Given the description of an element on the screen output the (x, y) to click on. 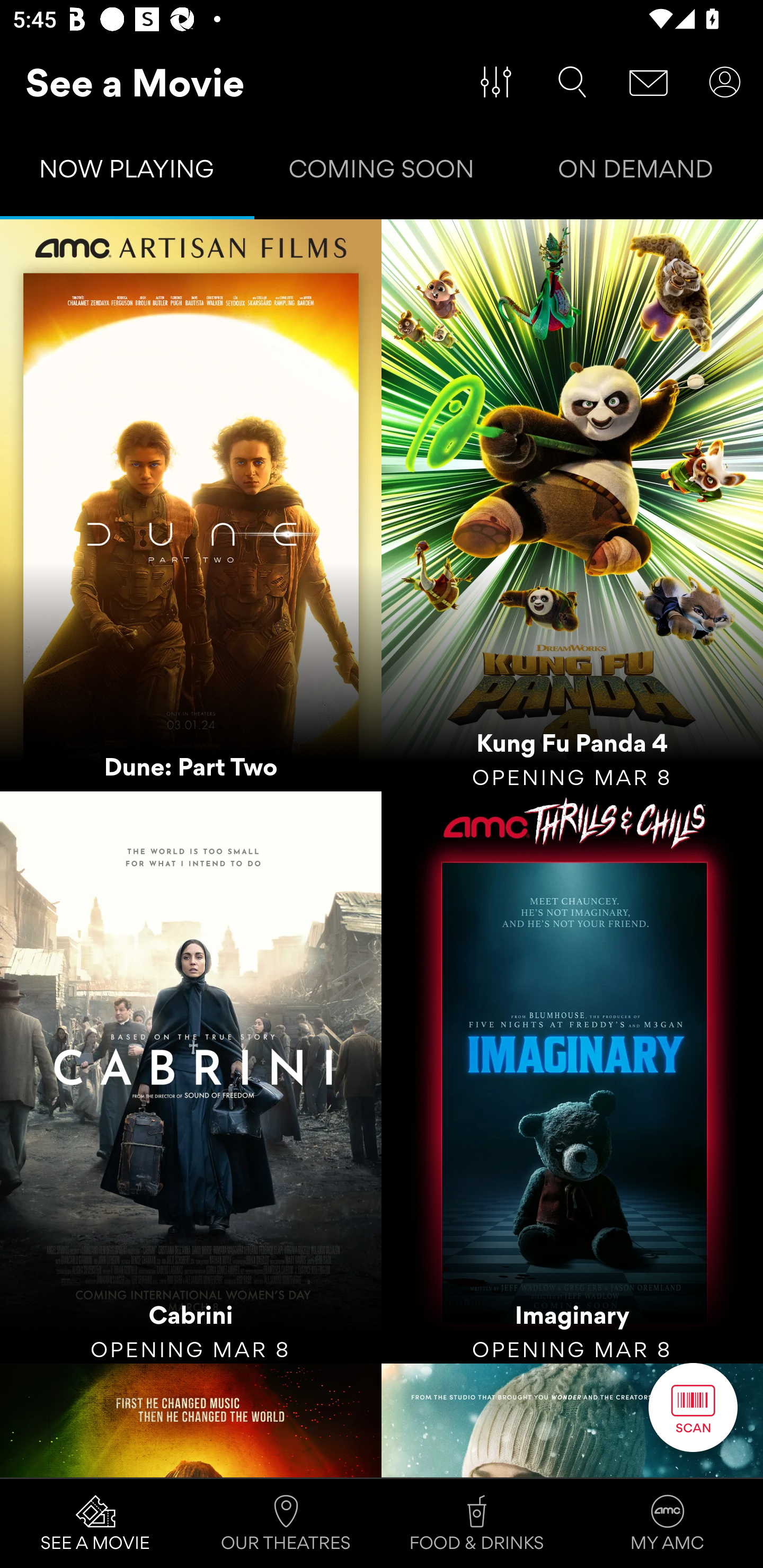
Filter Movies (495, 82)
Search (572, 82)
Message Center (648, 82)
User Account (724, 82)
NOW PLAYING
Tab 1 of 3 (127, 173)
COMING SOON
Tab 2 of 3 (381, 173)
ON DEMAND
Tab 3 of 3 (635, 173)
Dune: Part Two (190, 505)
Kung Fu Panda 4
OPENING MAR 8 (572, 505)
Cabrini
OPENING MAR 8 (190, 1077)
Imaginary
OPENING MAR 8 (572, 1077)
Scan Button (692, 1406)
SEE A MOVIE
Tab 1 of 4 (95, 1523)
OUR THEATRES
Tab 2 of 4 (285, 1523)
FOOD & DRINKS
Tab 3 of 4 (476, 1523)
MY AMC
Tab 4 of 4 (667, 1523)
